Given the description of an element on the screen output the (x, y) to click on. 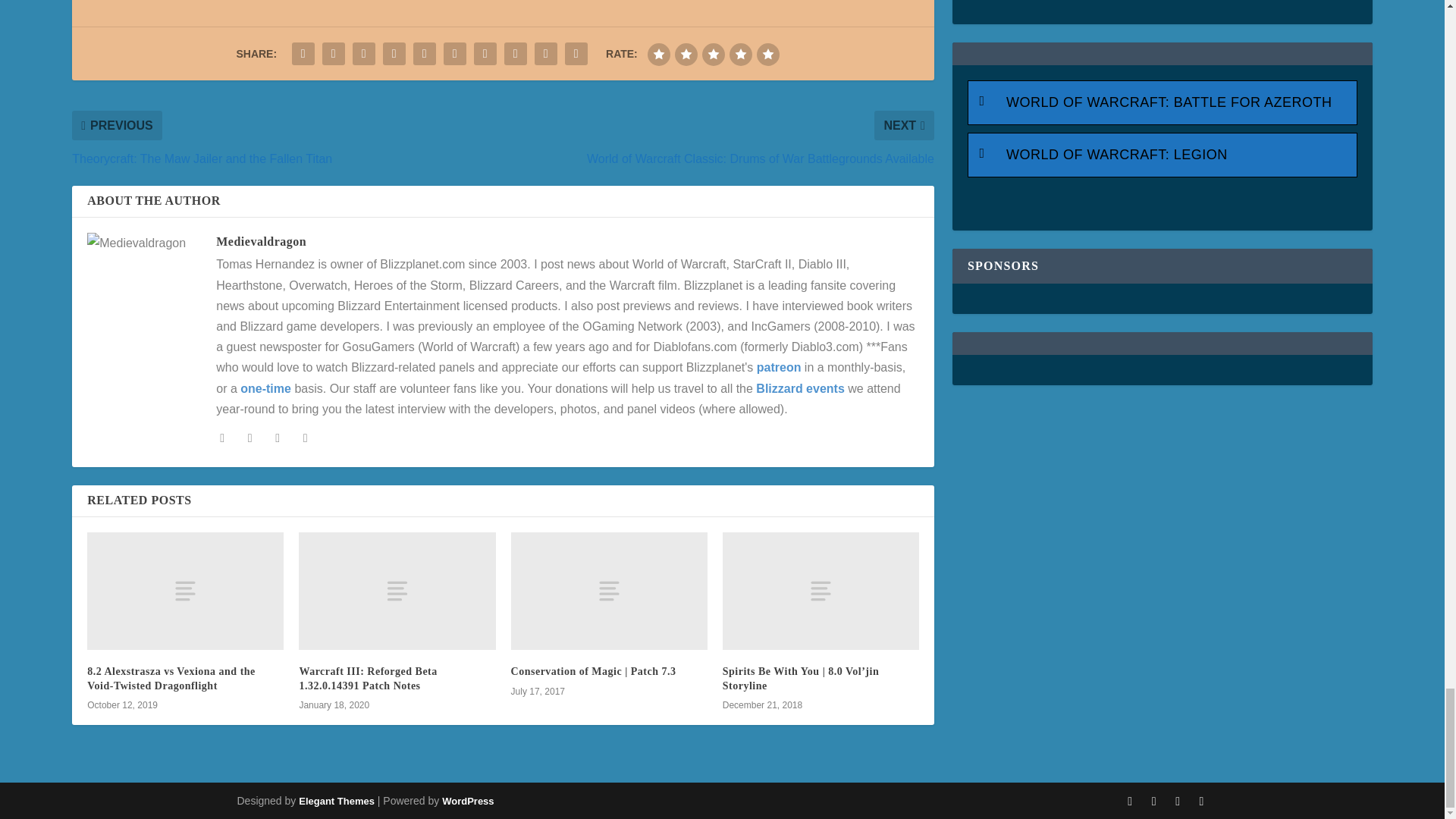
bad (658, 54)
poor (686, 54)
